Given the description of an element on the screen output the (x, y) to click on. 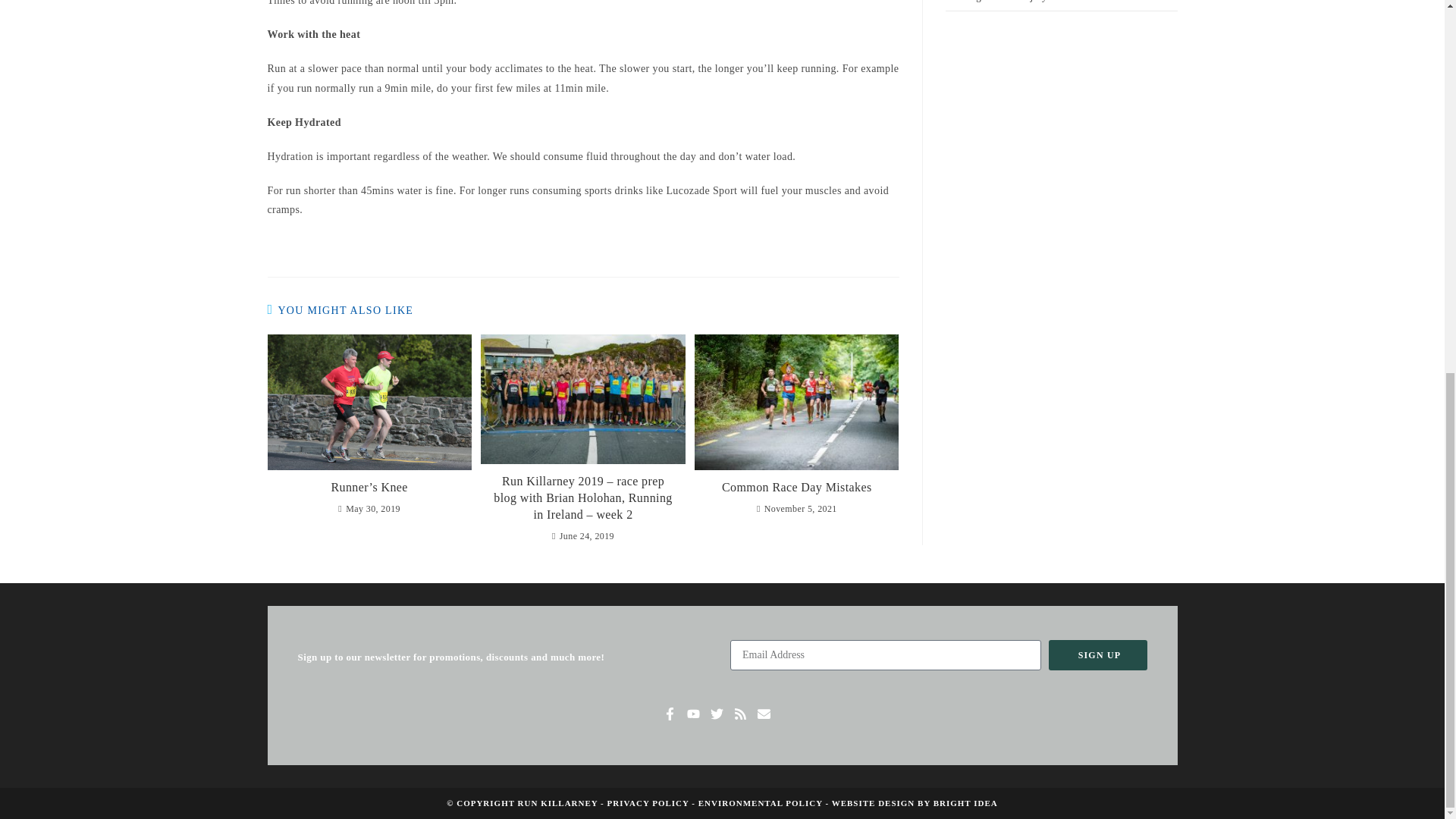
Common Race Day Mistakes (796, 487)
